Given the description of an element on the screen output the (x, y) to click on. 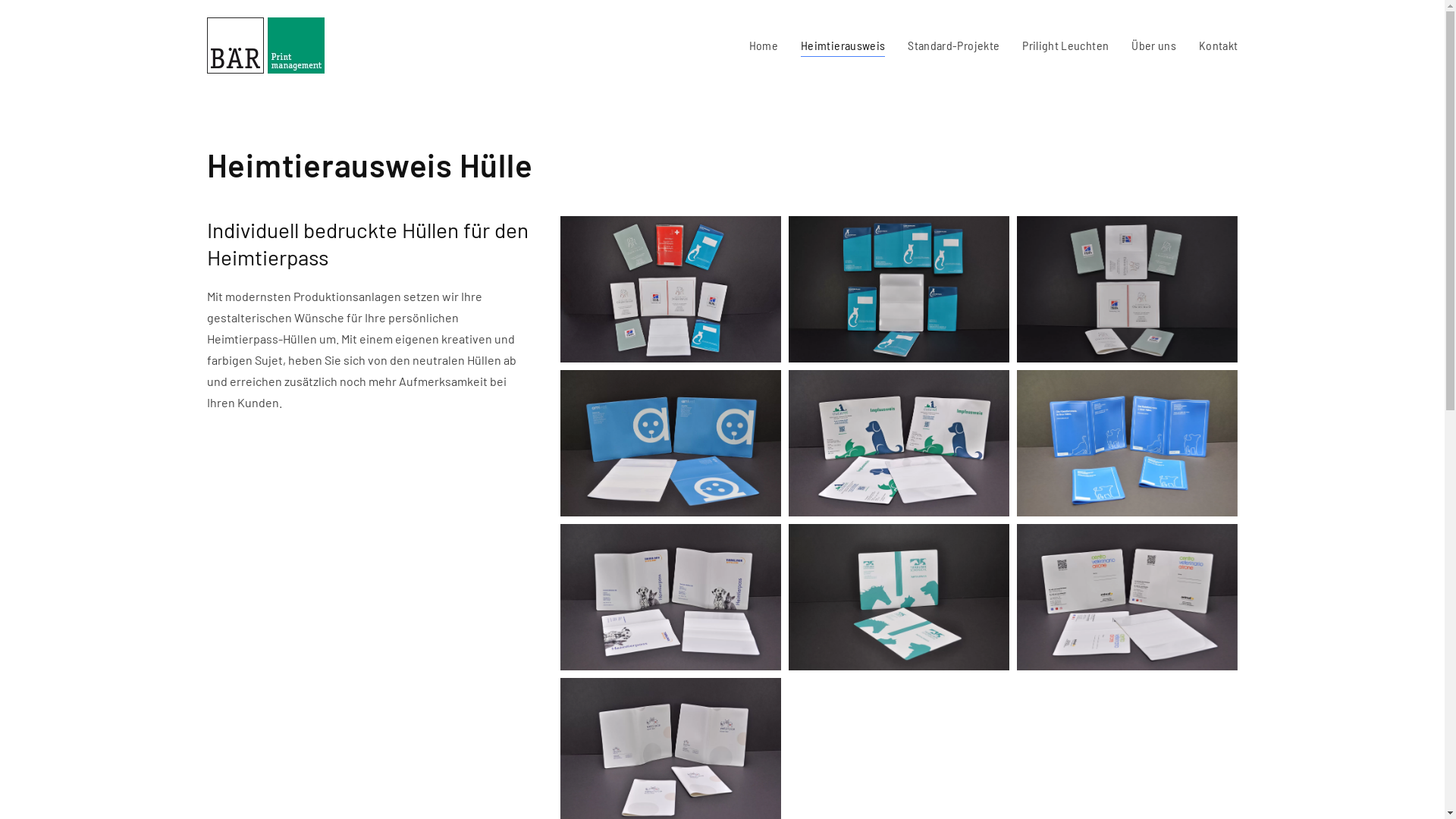
Prilight Leuchten Element type: text (1065, 45)
Kontakt Element type: text (1217, 45)
Heimtierausweis Element type: text (842, 45)
Standard-Projekte Element type: text (953, 45)
Home Element type: text (763, 45)
